Given the description of an element on the screen output the (x, y) to click on. 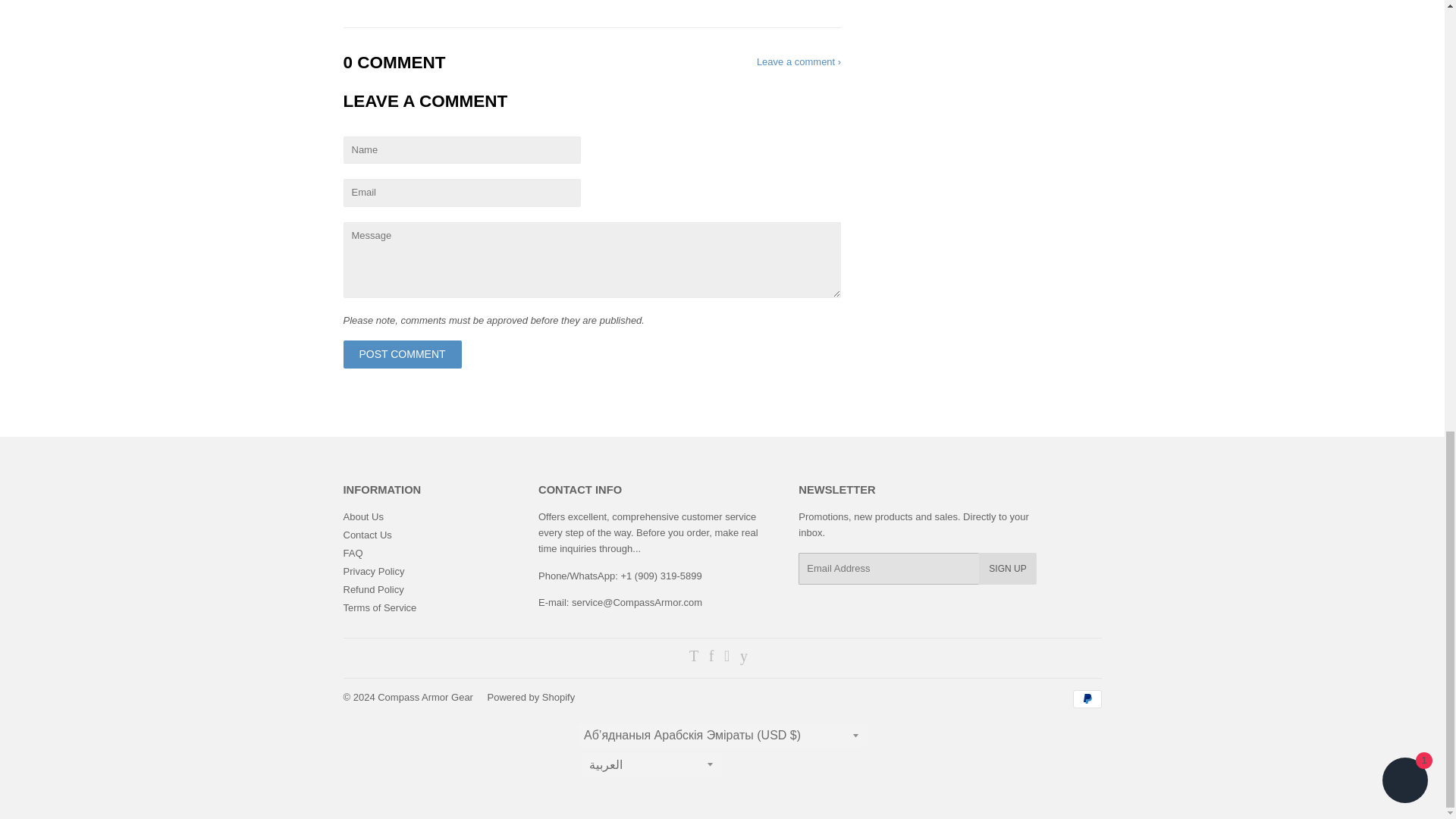
About Us (362, 516)
Post comment (401, 354)
Post comment (401, 354)
PayPal (1085, 699)
Contact Us (366, 534)
